Given the description of an element on the screen output the (x, y) to click on. 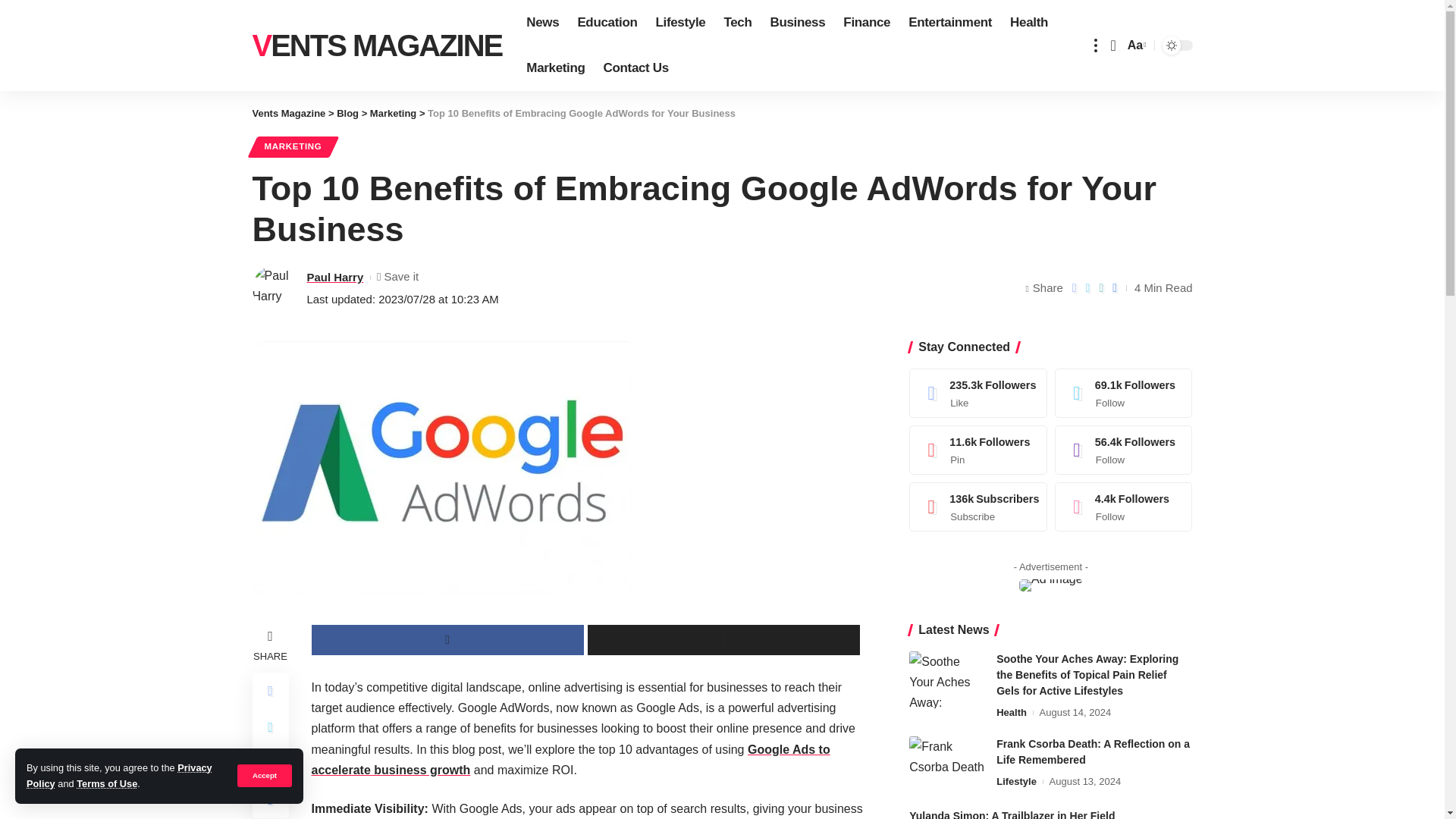
Tech (737, 22)
Facebook (978, 392)
Go to Blog. (347, 112)
Aa (1135, 45)
Twitter (1123, 392)
Marketing (555, 67)
Go to the Marketing Category archives. (392, 112)
Health (1029, 22)
Entertainment (950, 22)
